Given the description of an element on the screen output the (x, y) to click on. 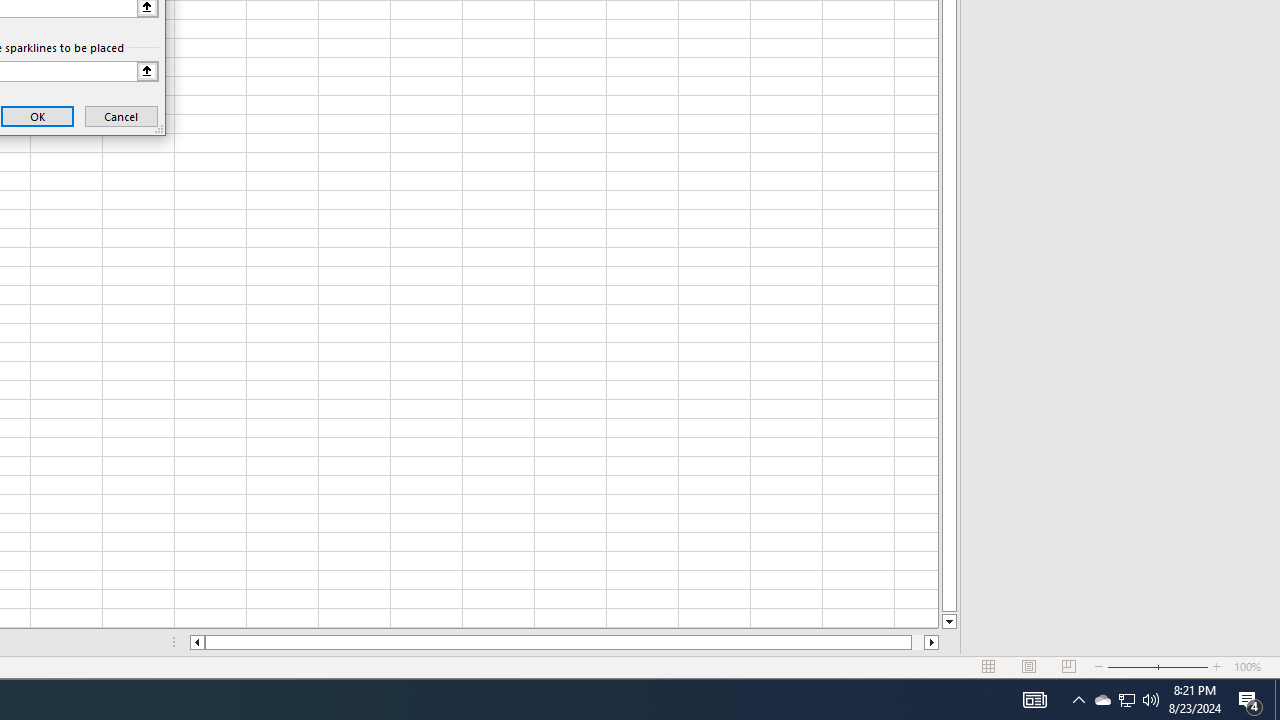
AutomationID: 4105 (1034, 699)
Cancel (121, 116)
OK (37, 116)
